Given the description of an element on the screen output the (x, y) to click on. 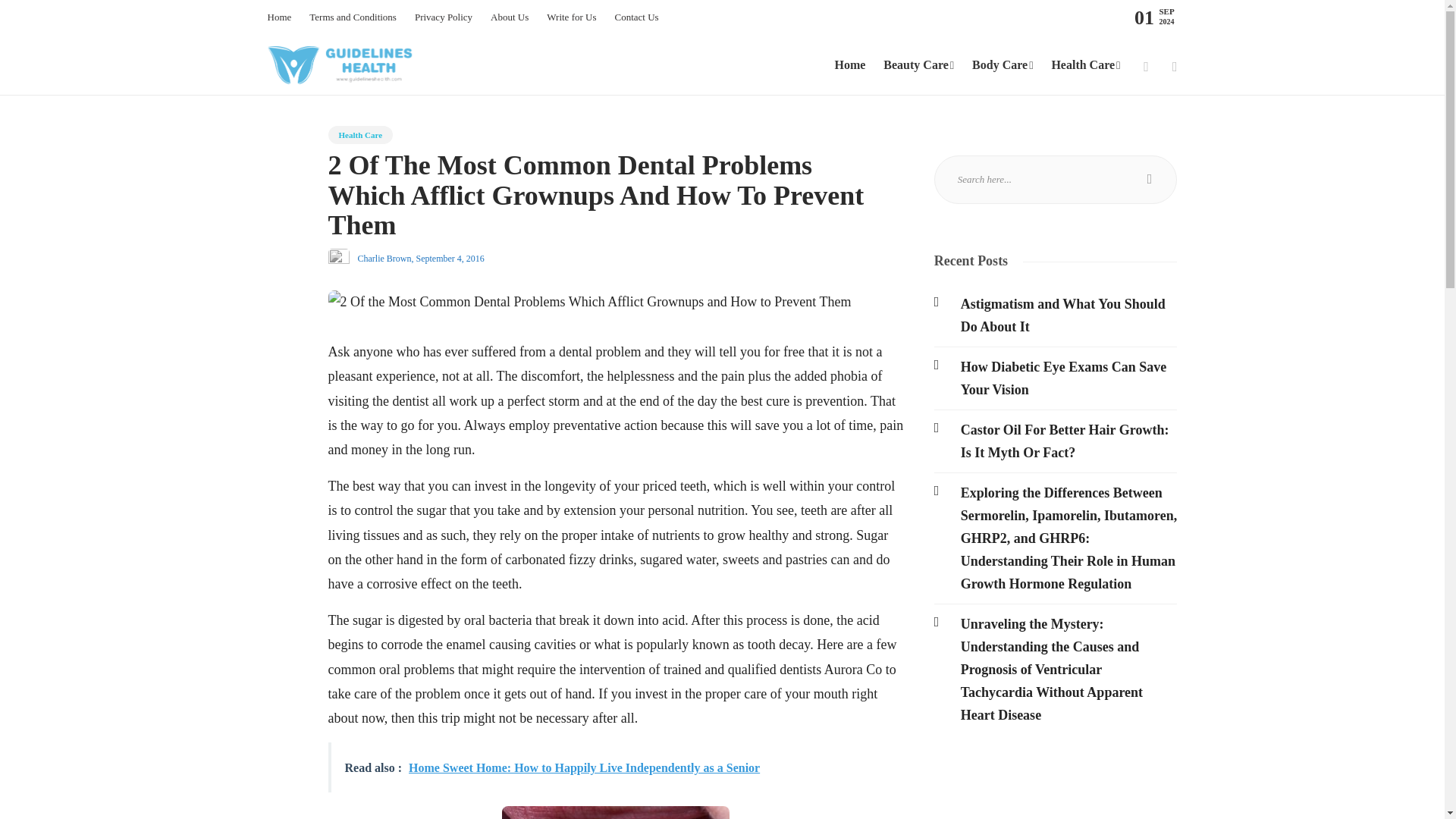
About Us (509, 17)
Privacy Policy (442, 17)
Health Care (360, 135)
Beauty Care (918, 65)
Health Care (1085, 65)
Search text (1055, 179)
September 4, 2016 (448, 258)
Body Care (1002, 65)
